Given the description of an element on the screen output the (x, y) to click on. 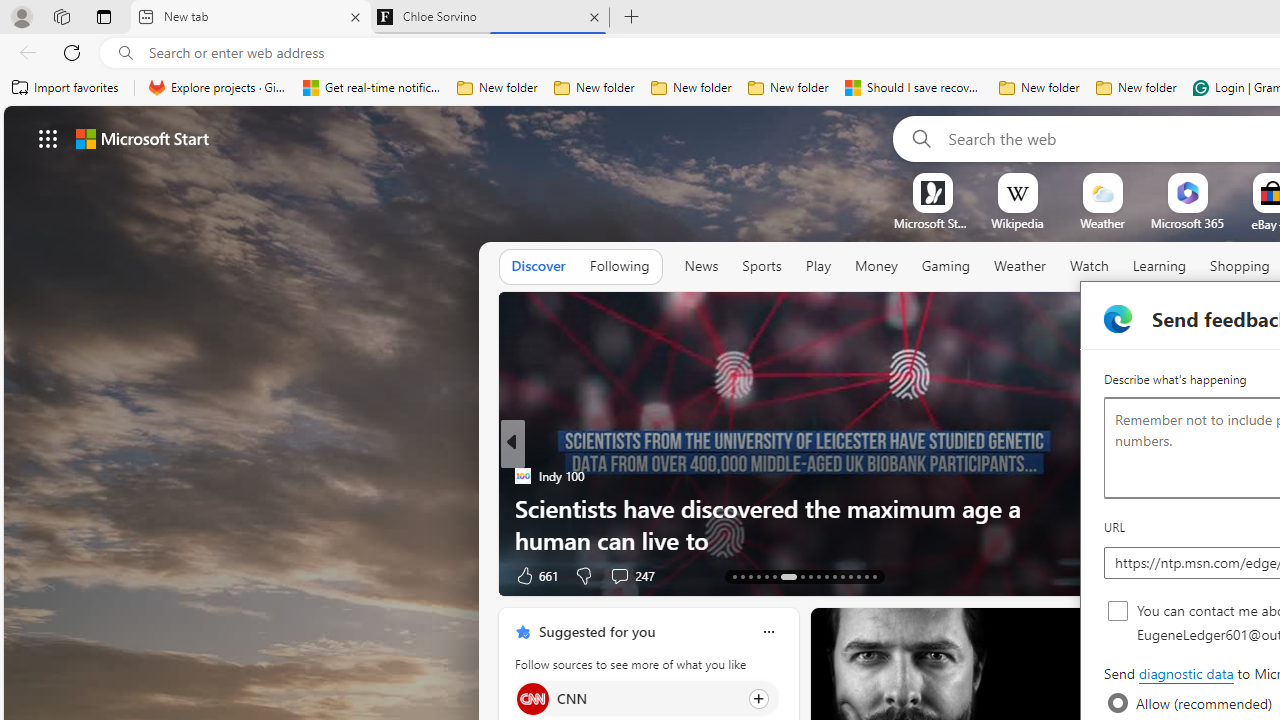
AutomationID: tab-18 (774, 576)
AutomationID: tab-16 (757, 576)
AutomationID: tab-22 (818, 576)
AutomationID: tab-40 (857, 576)
Suggested for you (596, 631)
App launcher (47, 138)
View comments 42 Comment (11, 575)
AutomationID: tab-19 (788, 576)
Learning (1159, 265)
AutomationID: tab-42 (874, 576)
